Given the description of an element on the screen output the (x, y) to click on. 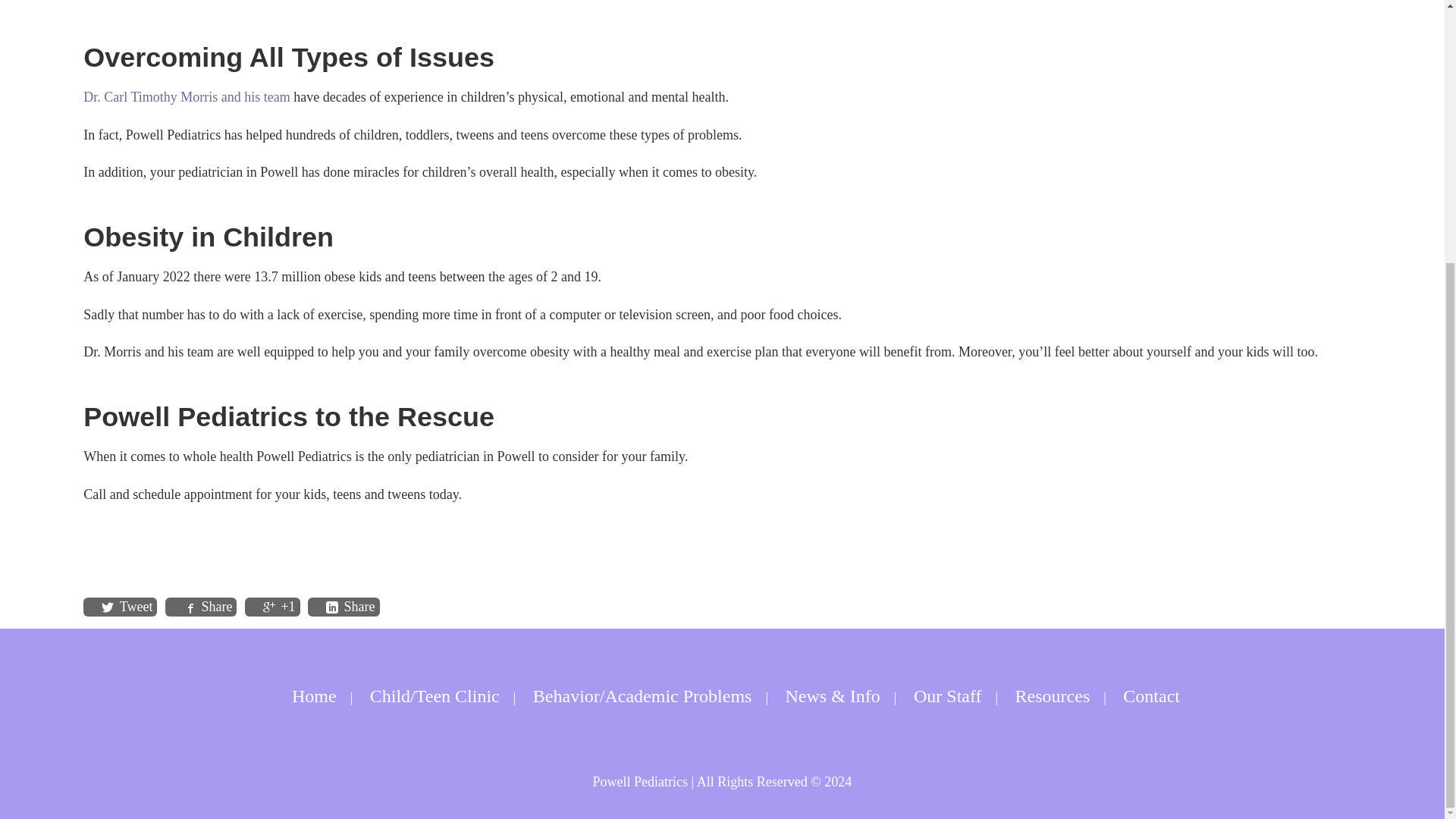
Contact (1150, 695)
Home (314, 695)
Share on Twitter (127, 606)
Share (207, 606)
Share on Facebook (207, 606)
Our Staff (947, 695)
Dr. Carl Timothy Morris and his team (185, 96)
Share (349, 606)
Share on LinkedIn (349, 606)
Resources (1052, 695)
